Given the description of an element on the screen output the (x, y) to click on. 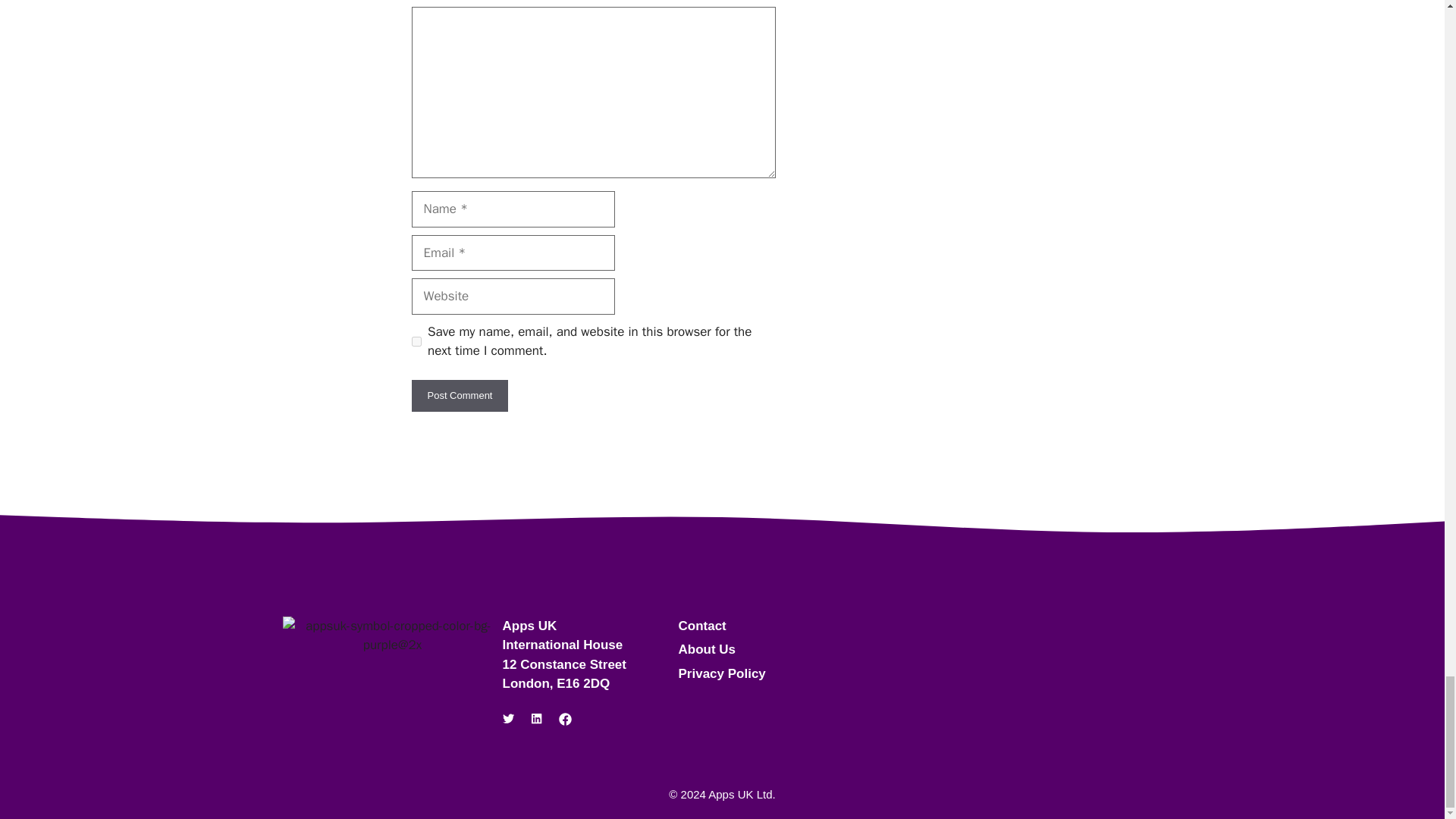
Post Comment (459, 395)
yes (415, 341)
Post Comment (459, 395)
